Given the description of an element on the screen output the (x, y) to click on. 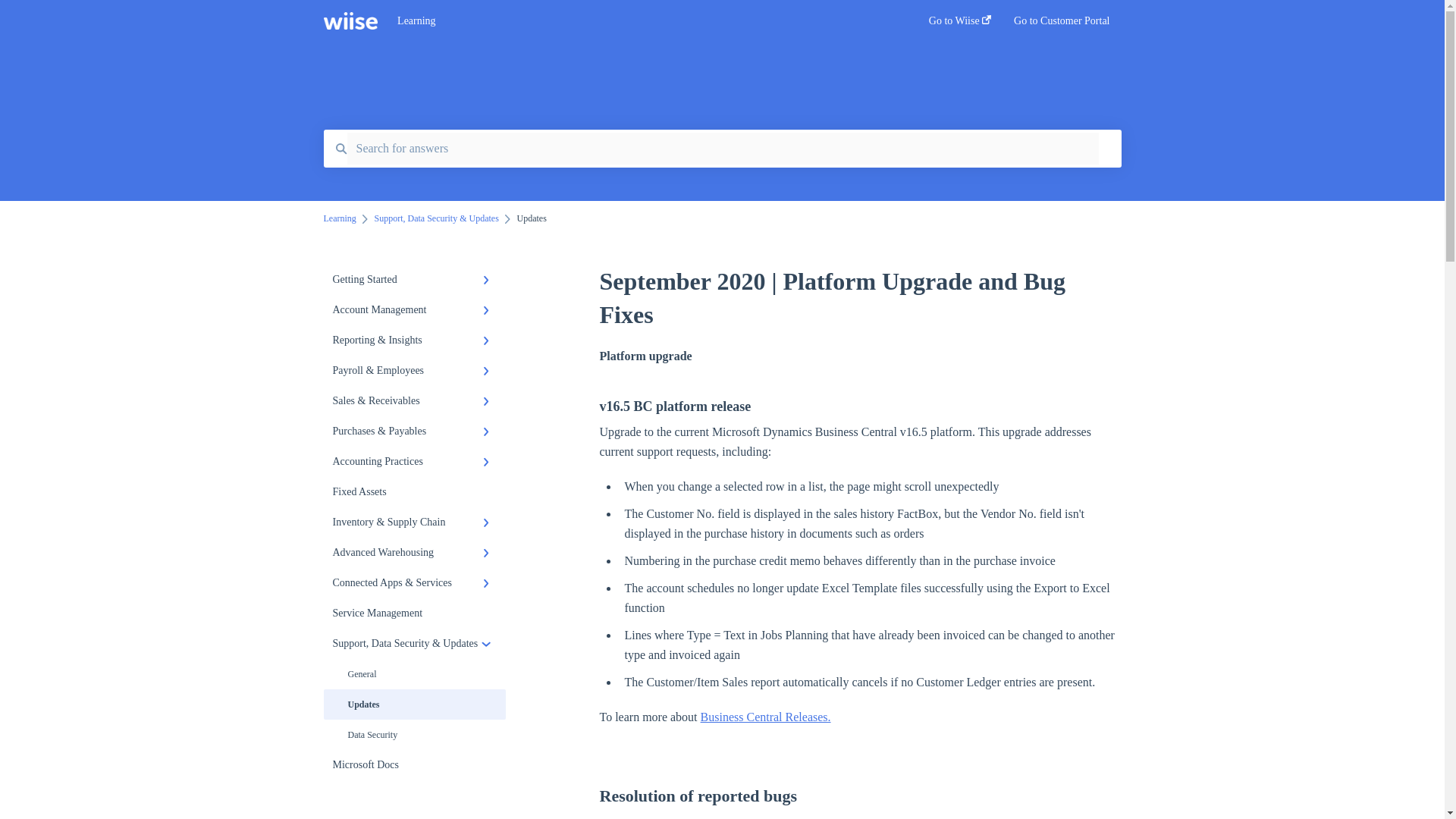
Go to Wiise (959, 25)
Go to Customer Portal (1061, 25)
Learning (640, 21)
